Given the description of an element on the screen output the (x, y) to click on. 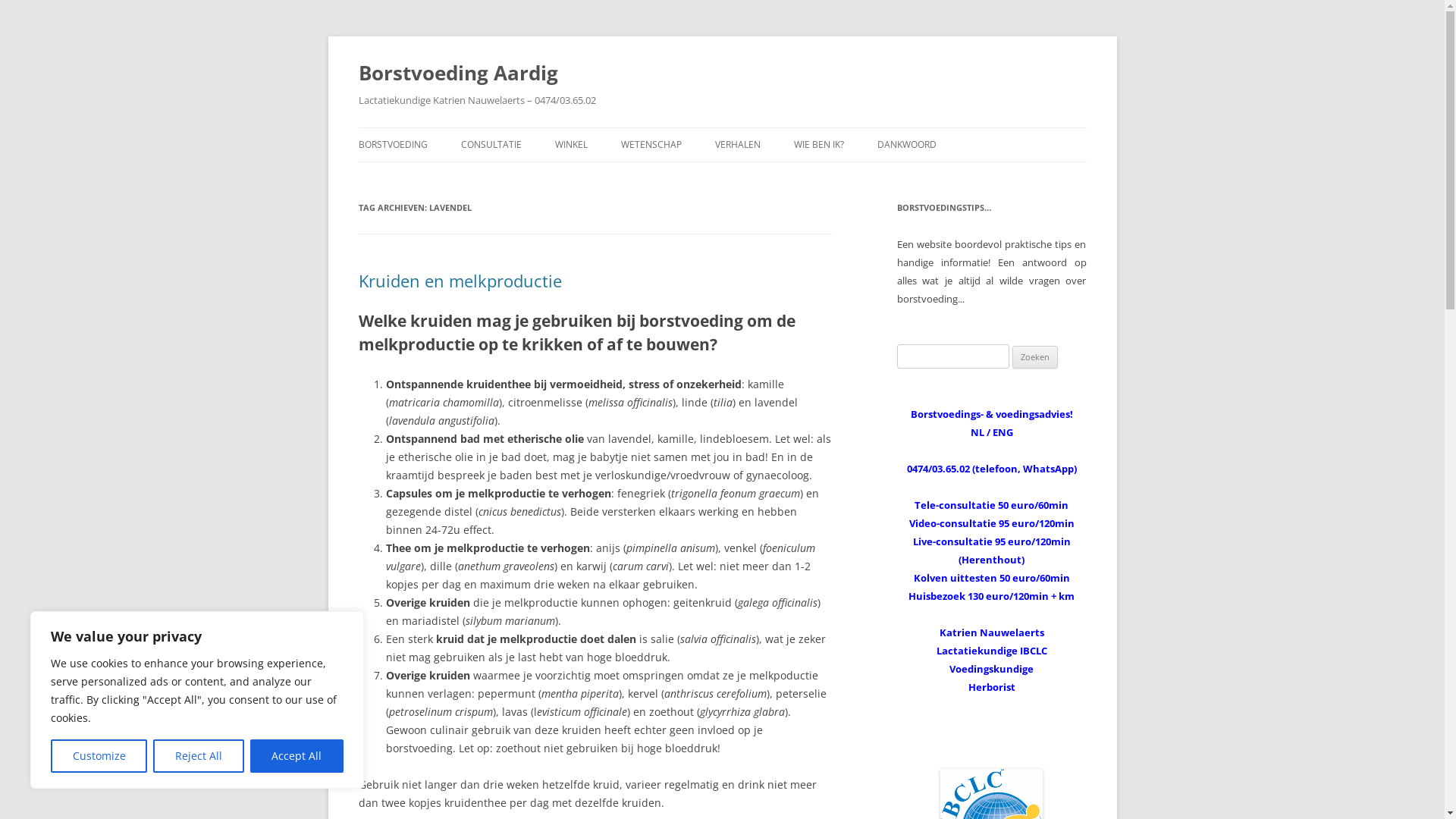
Reject All Element type: text (198, 755)
VERHALEN Element type: text (736, 144)
Customize Element type: text (98, 755)
Zoeken Element type: text (1034, 356)
WINKEL Element type: text (571, 144)
BORSTVOEDING Element type: text (391, 144)
WETENSCHAP Element type: text (650, 144)
Borstvoeding Aardig Element type: text (457, 72)
Kruiden en melkproductie Element type: text (459, 280)
AANLEGGEN Element type: text (433, 176)
WIE BEN IK? Element type: text (818, 144)
FILOSOFIE Element type: text (868, 176)
Spring naar inhoud Element type: text (721, 127)
DANKWOORD Element type: text (905, 144)
Accept All Element type: text (296, 755)
CONSULTATIE Element type: text (491, 144)
